Given the description of an element on the screen output the (x, y) to click on. 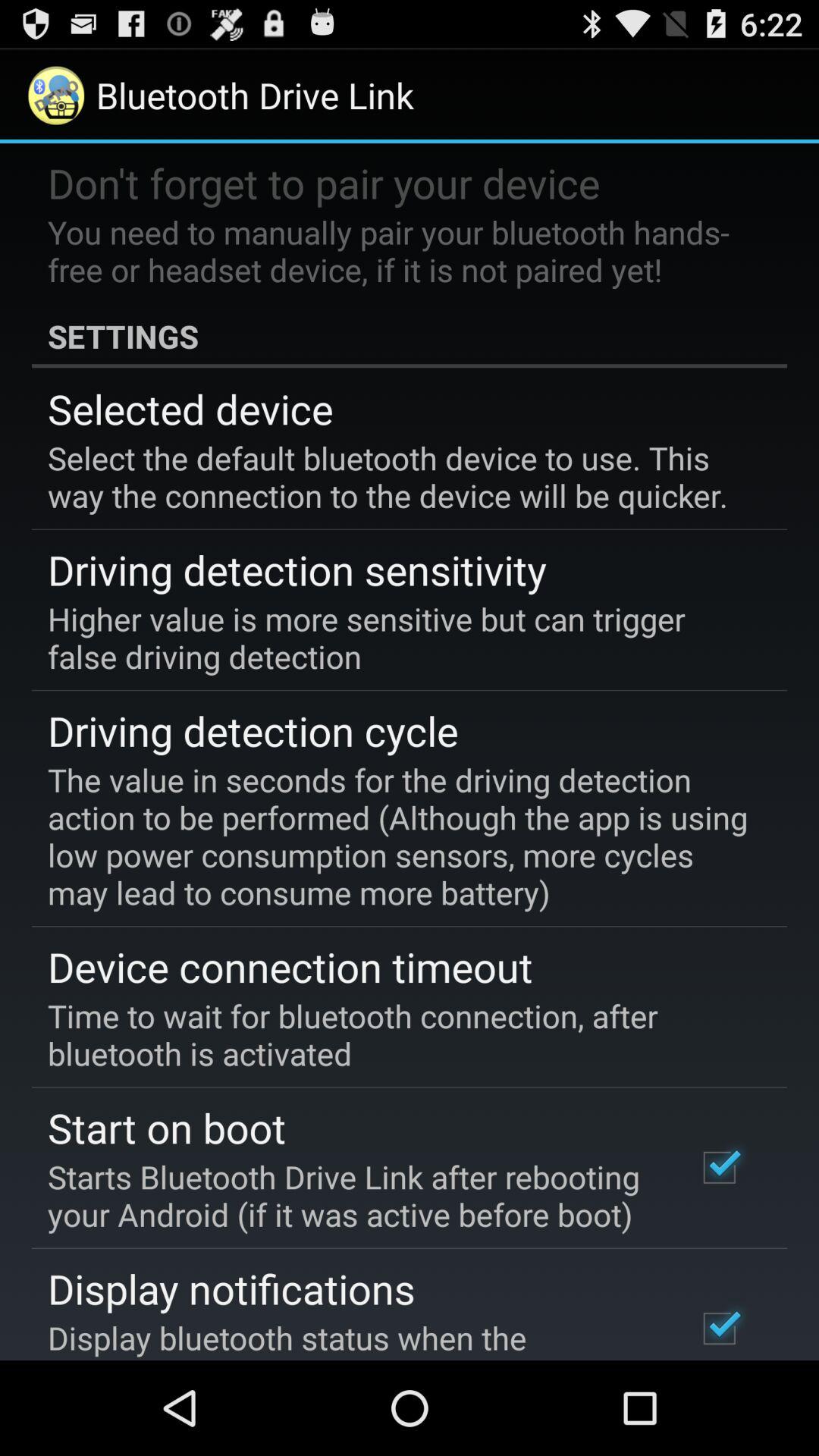
flip to you need to (399, 250)
